Given the description of an element on the screen output the (x, y) to click on. 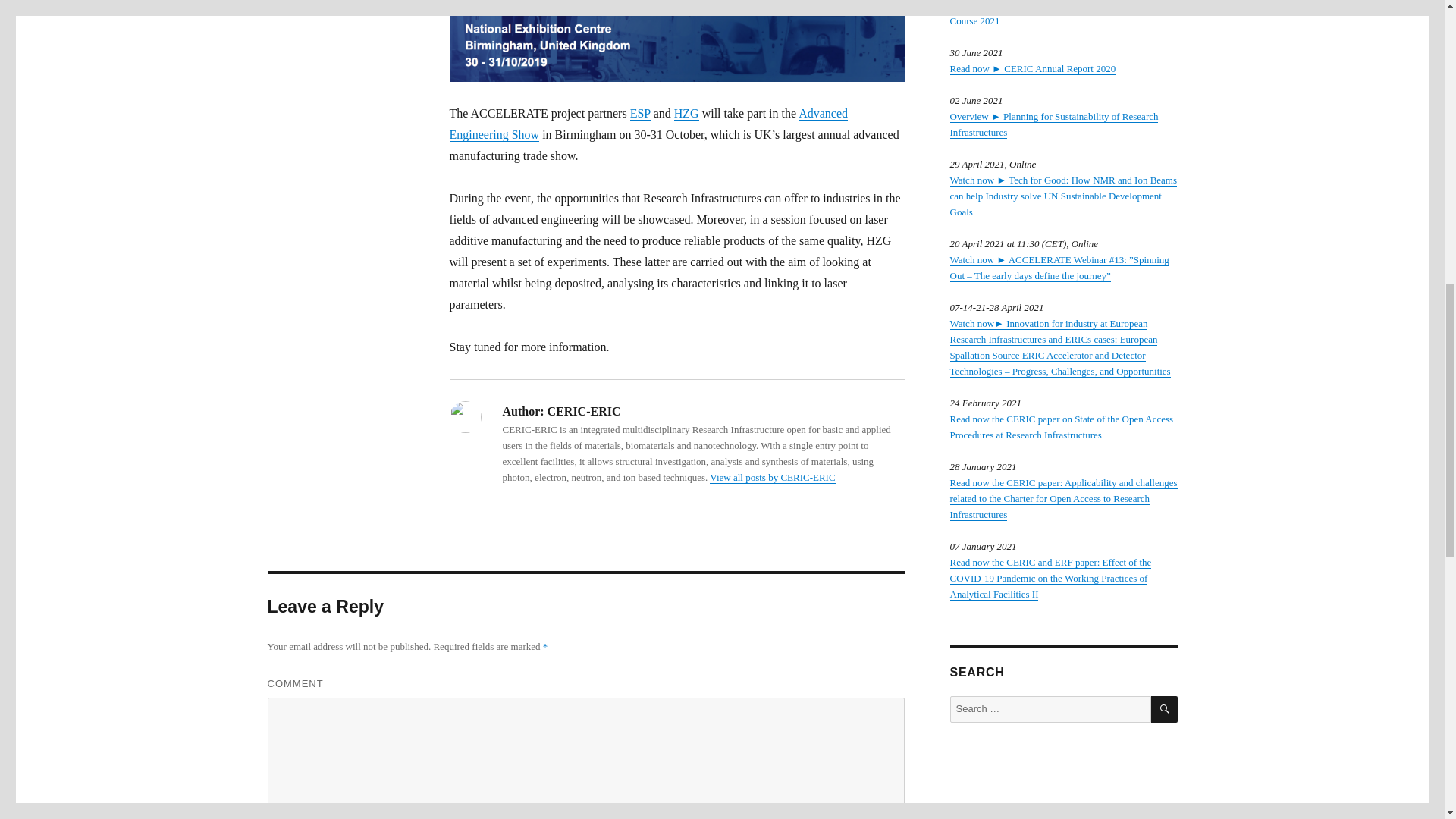
View all posts by CERIC-ERIC (772, 477)
HZG (686, 113)
ESP (640, 113)
Advanced Engineering Show (647, 123)
SEARCH (1164, 709)
